Given the description of an element on the screen output the (x, y) to click on. 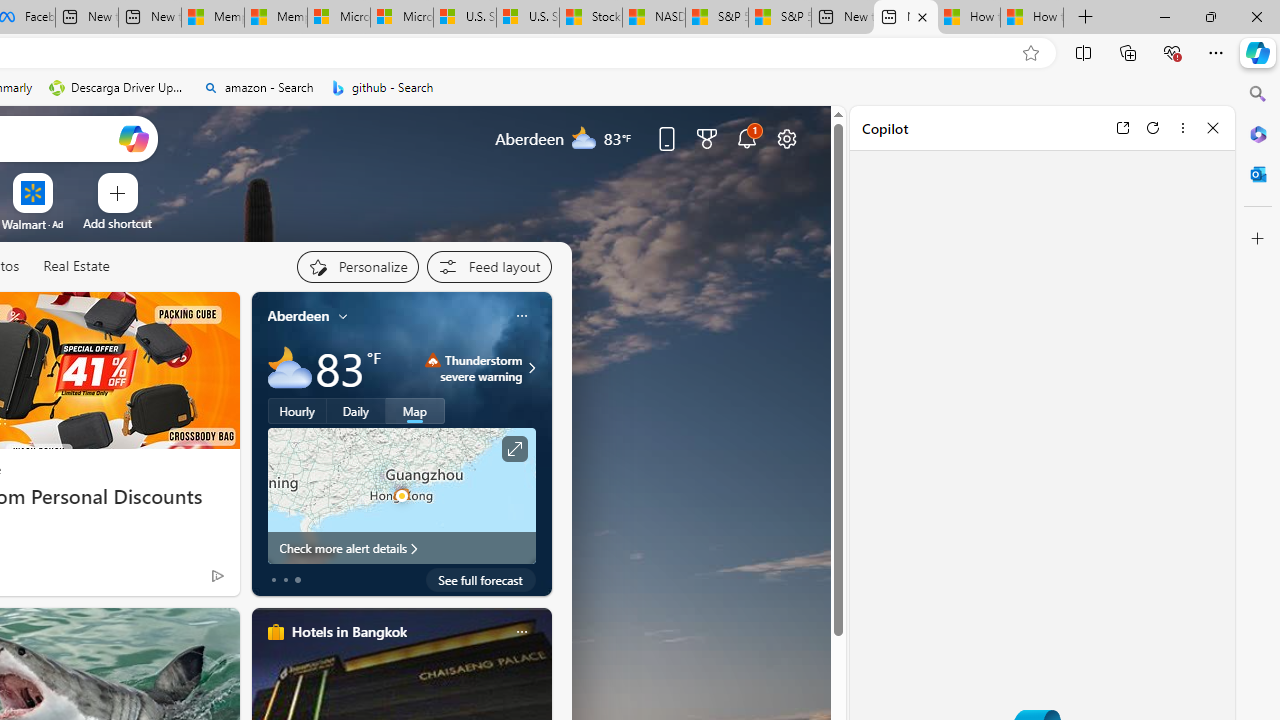
tab-1 (285, 579)
My location (343, 315)
Class: icon-img (521, 632)
Thunderstorm - Severe (432, 359)
Map (415, 411)
Real Estate (75, 267)
amazon - Search (258, 88)
How to Use a Monitor With Your Closed Laptop (1032, 17)
Open Copilot (132, 138)
